Given the description of an element on the screen output the (x, y) to click on. 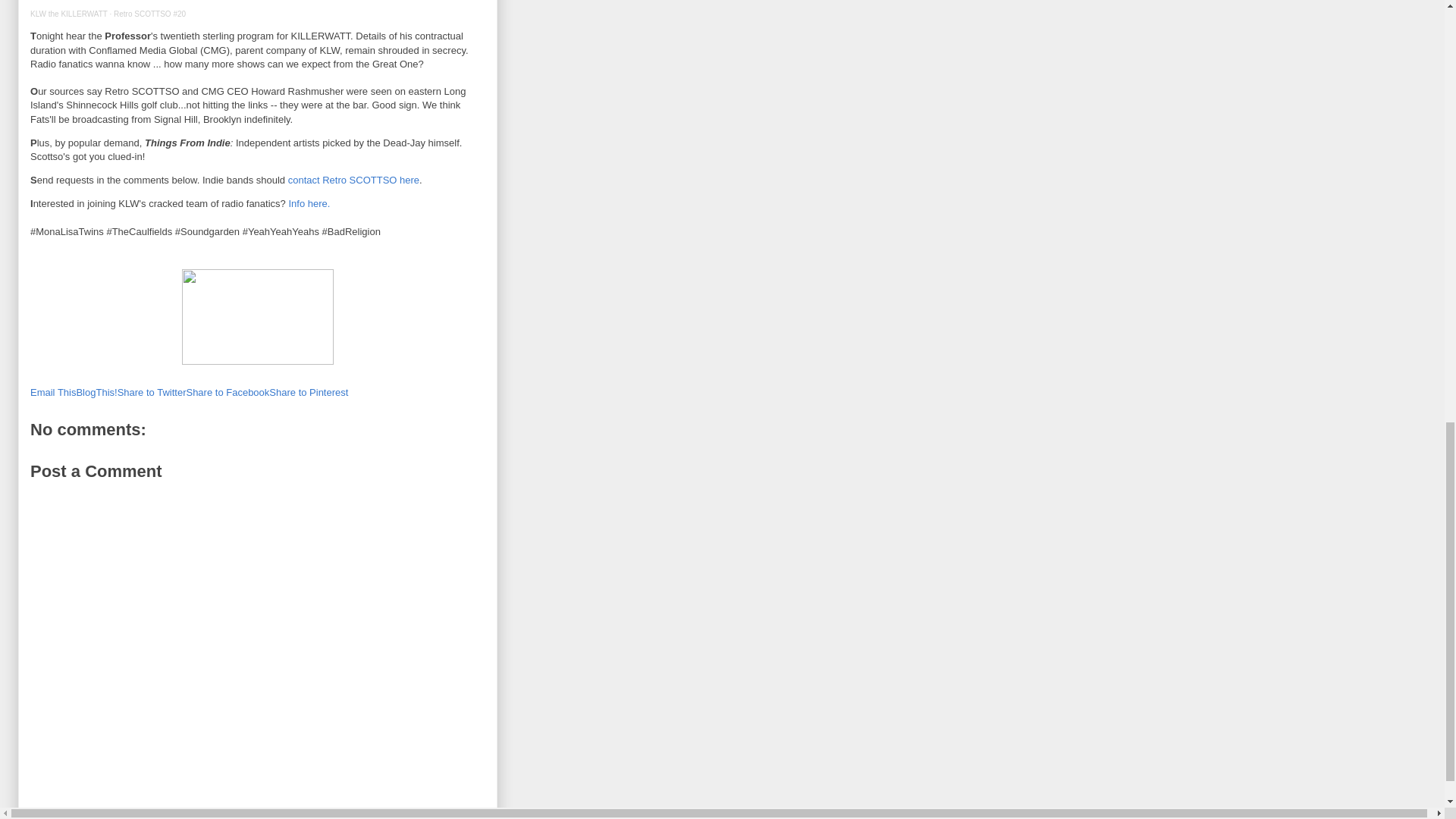
Share to Facebook (227, 391)
Share to Twitter (151, 391)
KLW the KILLERWATT (68, 13)
Info here. (309, 203)
BlogThis! (95, 391)
Email This (52, 391)
contact Retro SCOTTSO here (353, 179)
Share to Pinterest (308, 391)
KLW the KILLERWATT (68, 13)
Share to Facebook (227, 391)
